Given the description of an element on the screen output the (x, y) to click on. 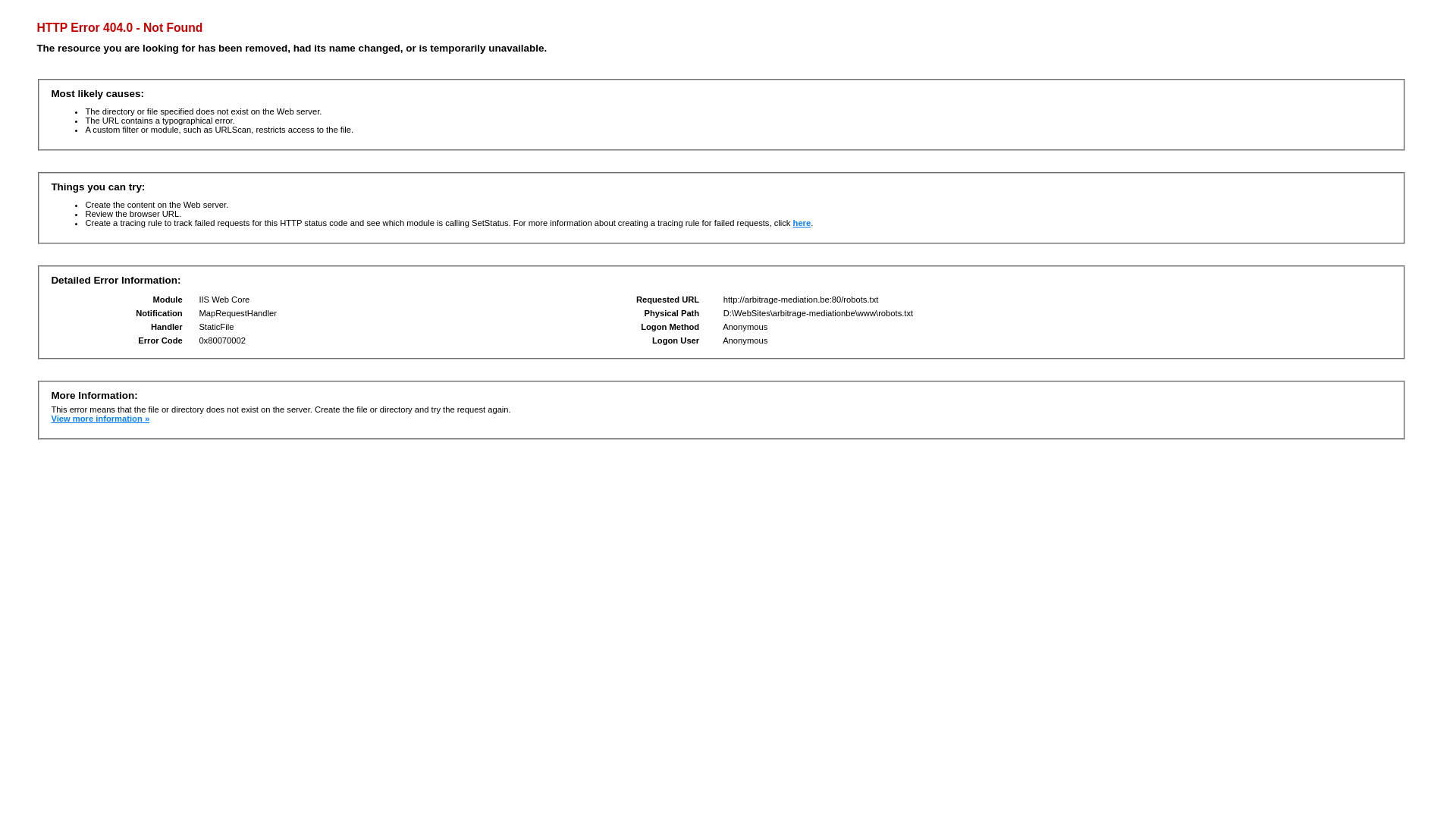
here Element type: text (802, 222)
